Given the description of an element on the screen output the (x, y) to click on. 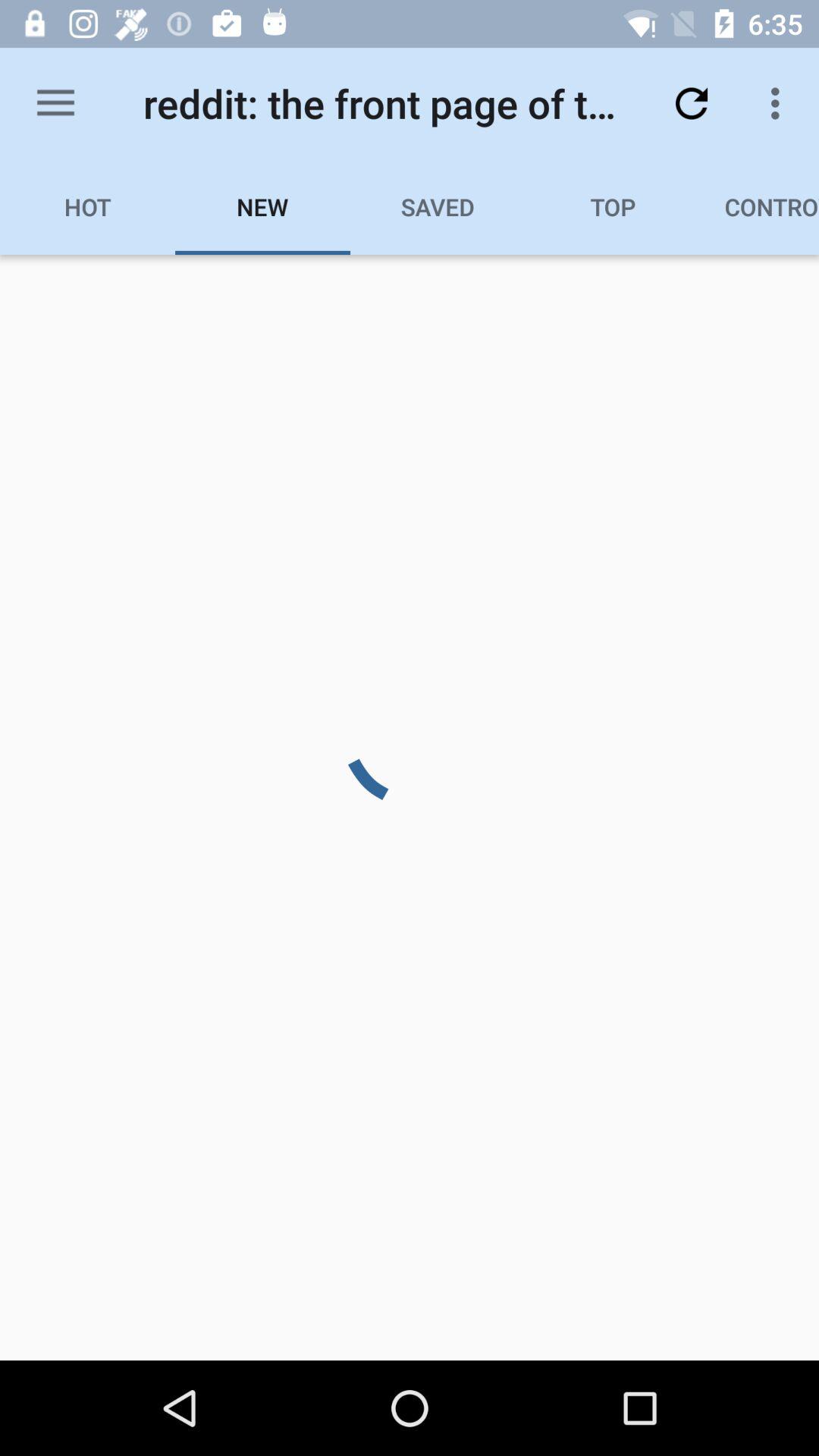
open the item to the right of the reddit the front item (691, 103)
